Given the description of an element on the screen output the (x, y) to click on. 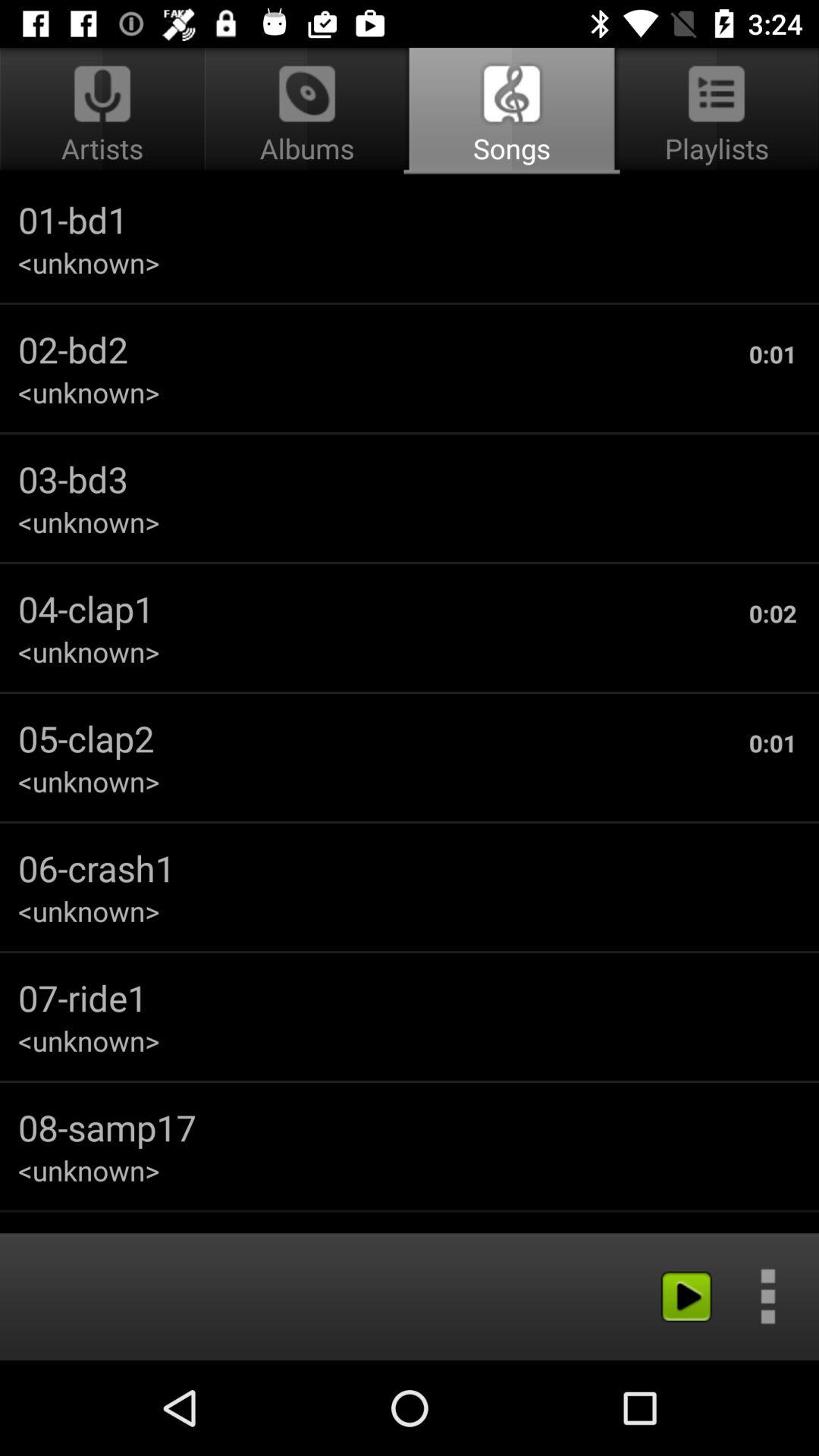
select the menu button (768, 1295)
